Given the description of an element on the screen output the (x, y) to click on. 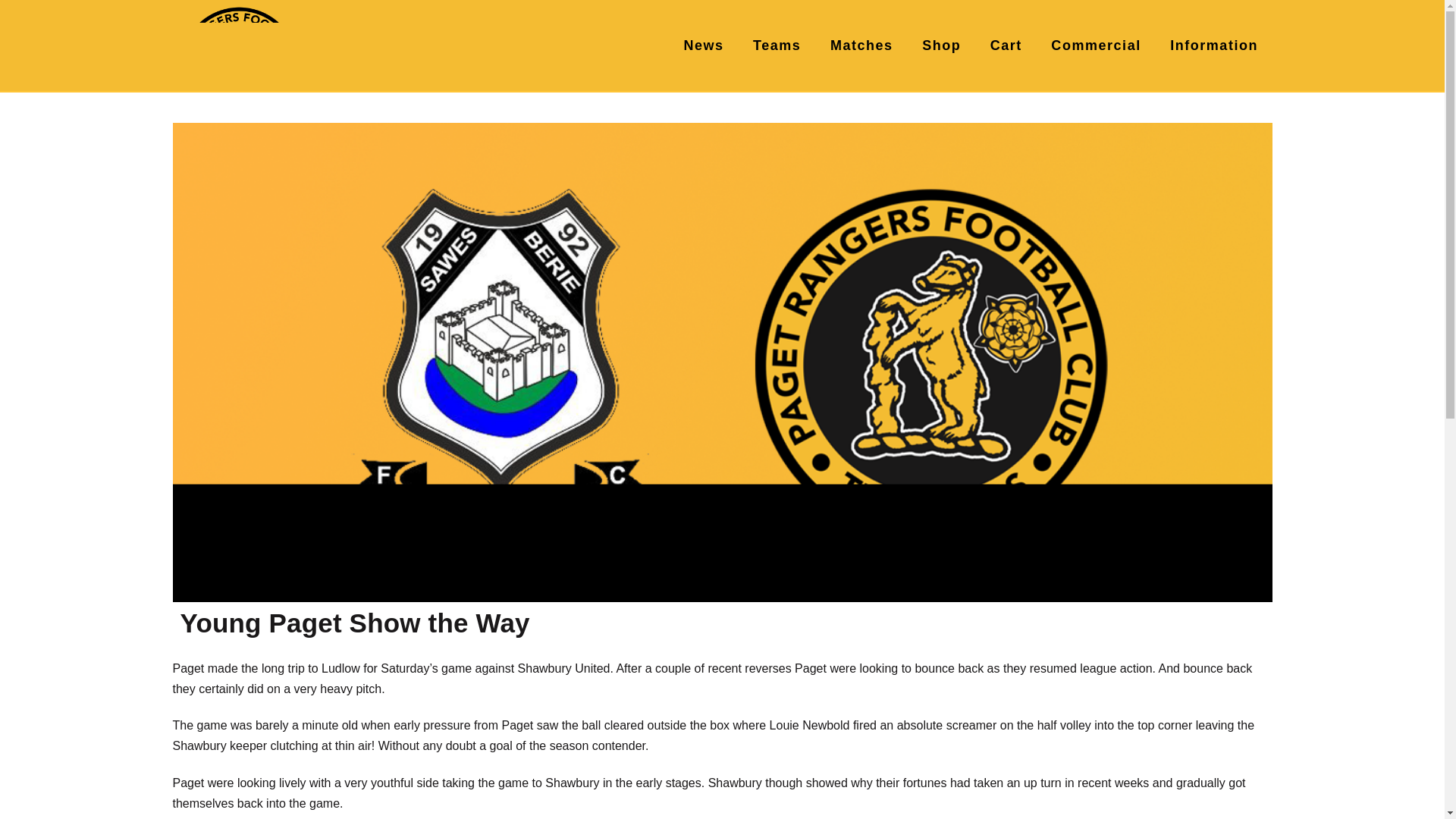
Commercial (1094, 45)
Information (1212, 45)
Matches (861, 45)
